Given the description of an element on the screen output the (x, y) to click on. 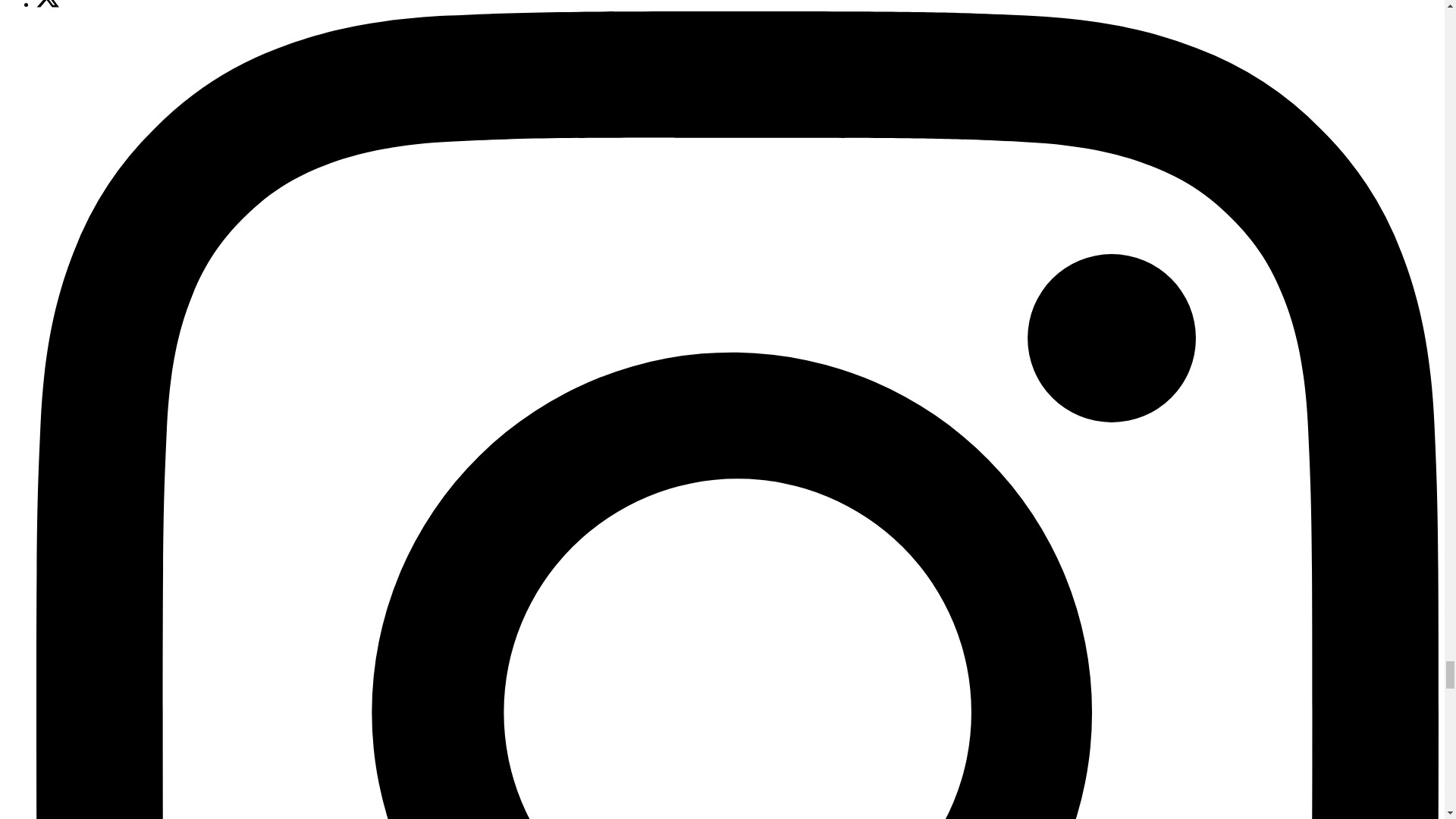
Twitter X (47, 4)
